Given the description of an element on the screen output the (x, y) to click on. 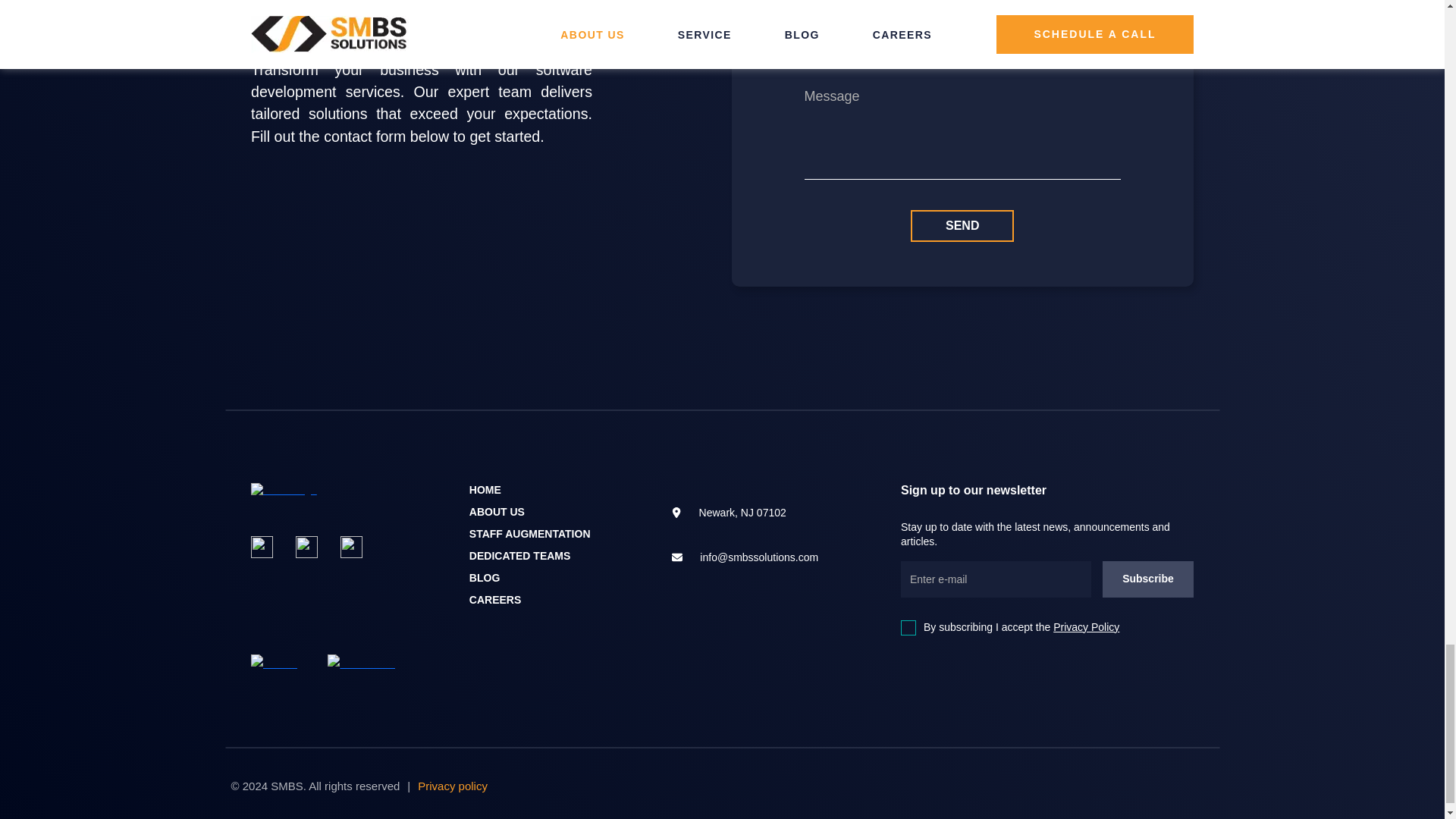
Subscribe (1147, 579)
Newark, NJ 07102 (758, 512)
Privacy policy (452, 785)
HOME (484, 490)
STAFF AUGMENTATION (529, 533)
CAREERS (494, 598)
DEDICATED TEAMS (519, 554)
ABOUT US (496, 510)
Privacy Policy (1085, 626)
SEND (962, 225)
BLOG (483, 577)
